Given the description of an element on the screen output the (x, y) to click on. 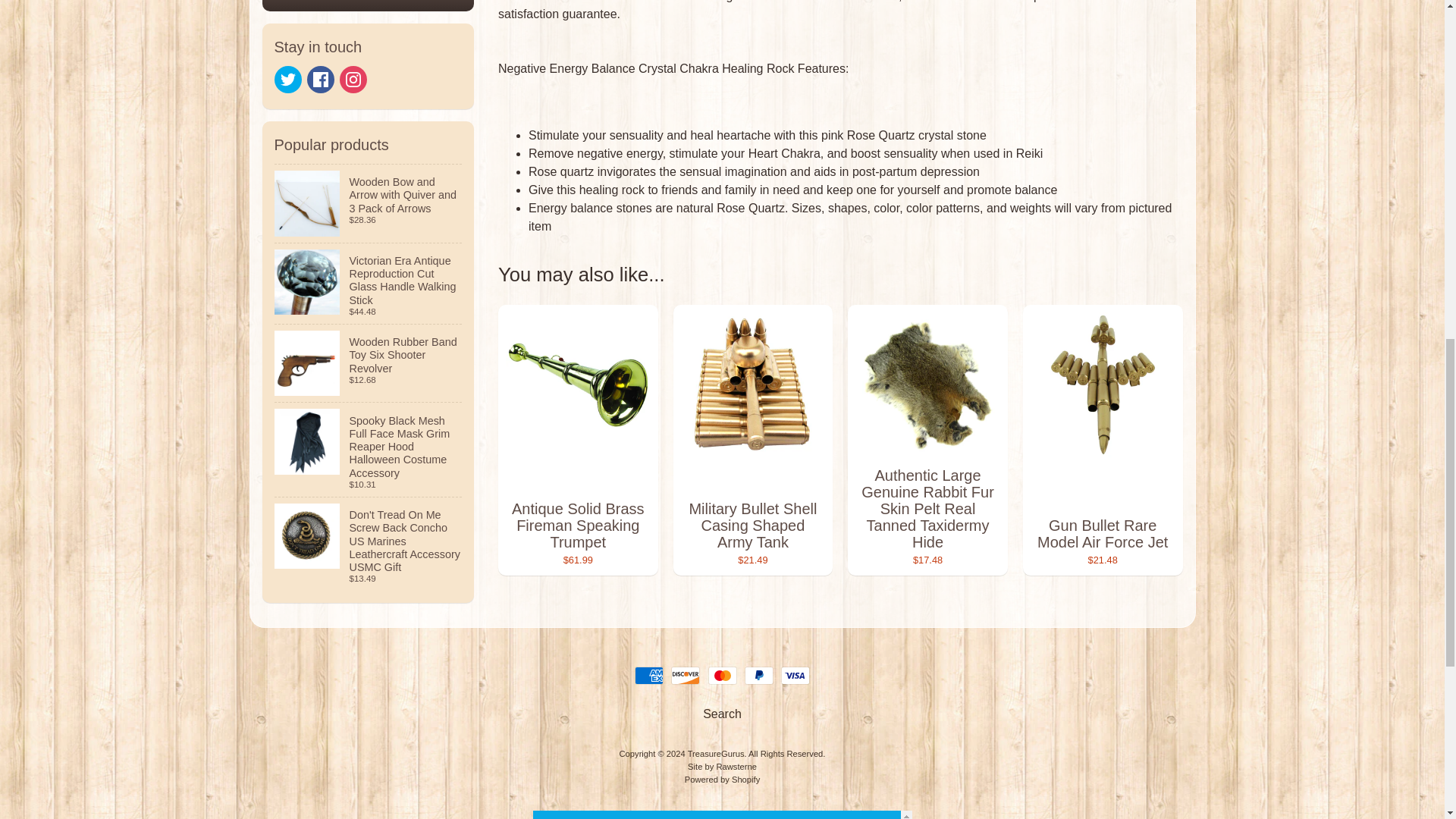
Wooden Bow and Arrow with Quiver and 3 Pack of Arrows (369, 203)
Twitter (288, 79)
Wooden Rubber Band Toy Six Shooter Revolver (369, 363)
Facebook (320, 79)
Instagram (352, 79)
